Given the description of an element on the screen output the (x, y) to click on. 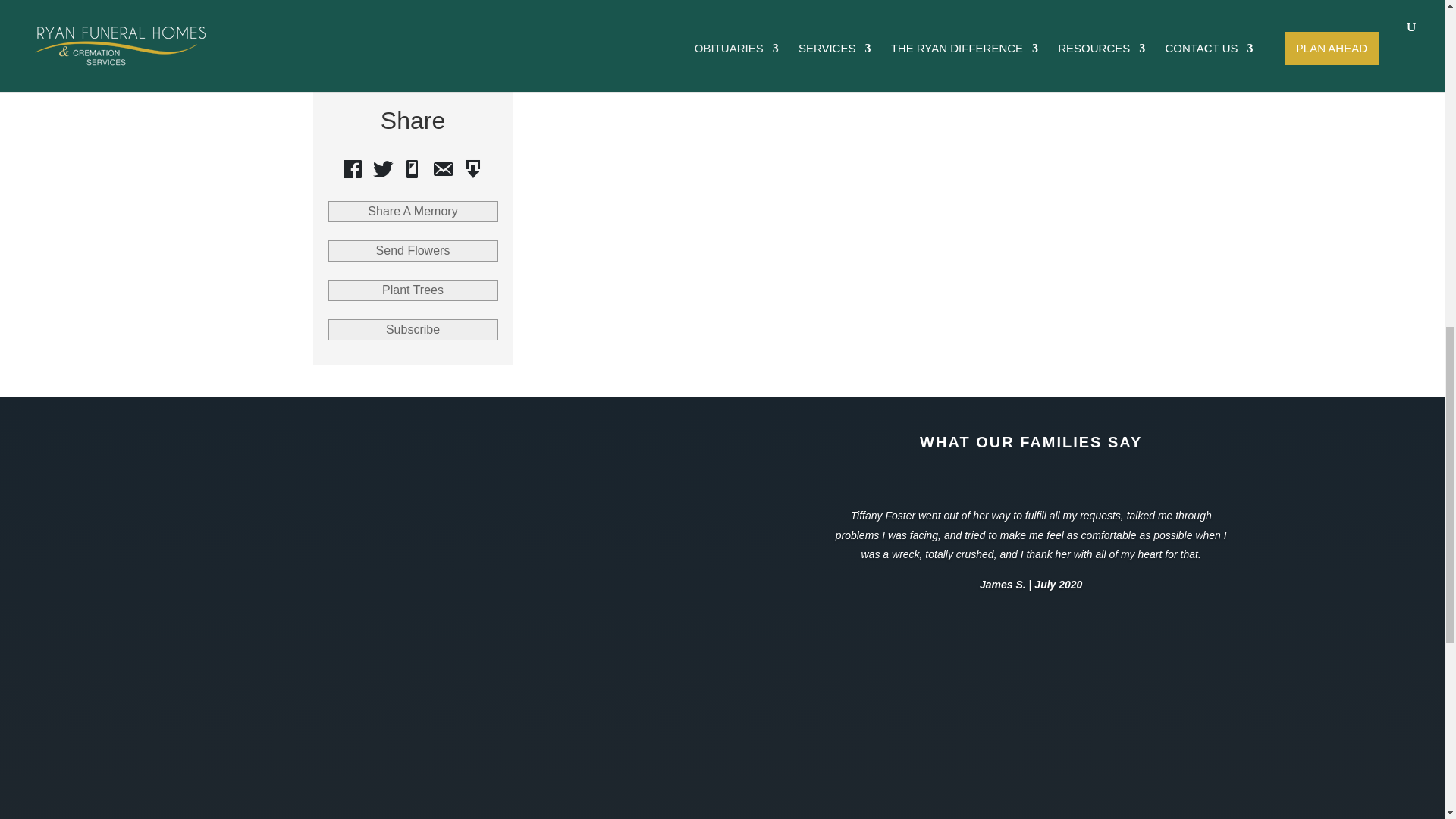
Share this obituary on Facebook (352, 168)
Share this obituary via email (442, 168)
Tweet this obituary (382, 168)
Print a pdf of this obituary (472, 168)
Send Flowers (412, 250)
Share this obituary via text message (412, 168)
Share A Memory (412, 210)
